Given the description of an element on the screen output the (x, y) to click on. 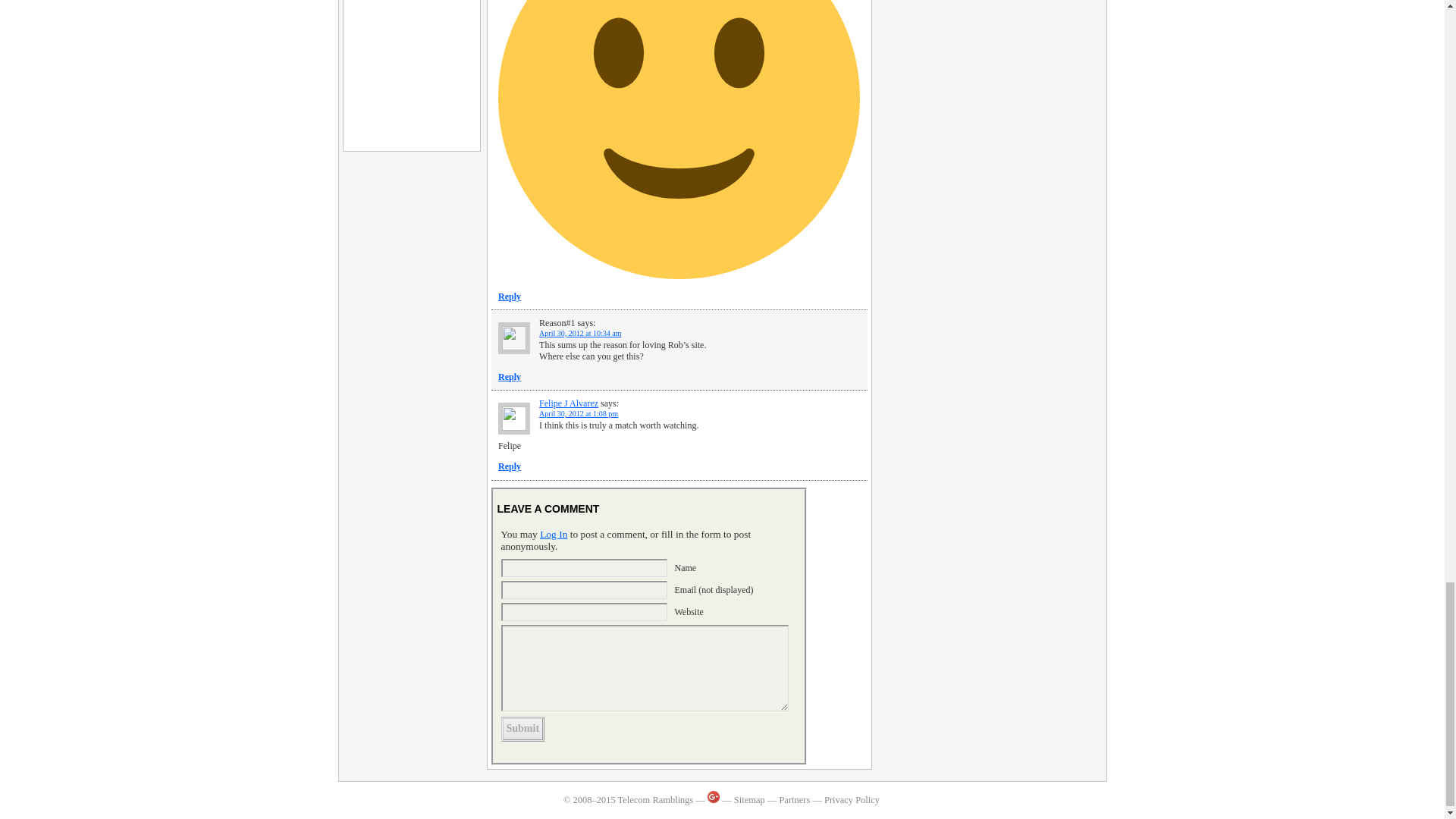
Submit (522, 729)
